Given the description of an element on the screen output the (x, y) to click on. 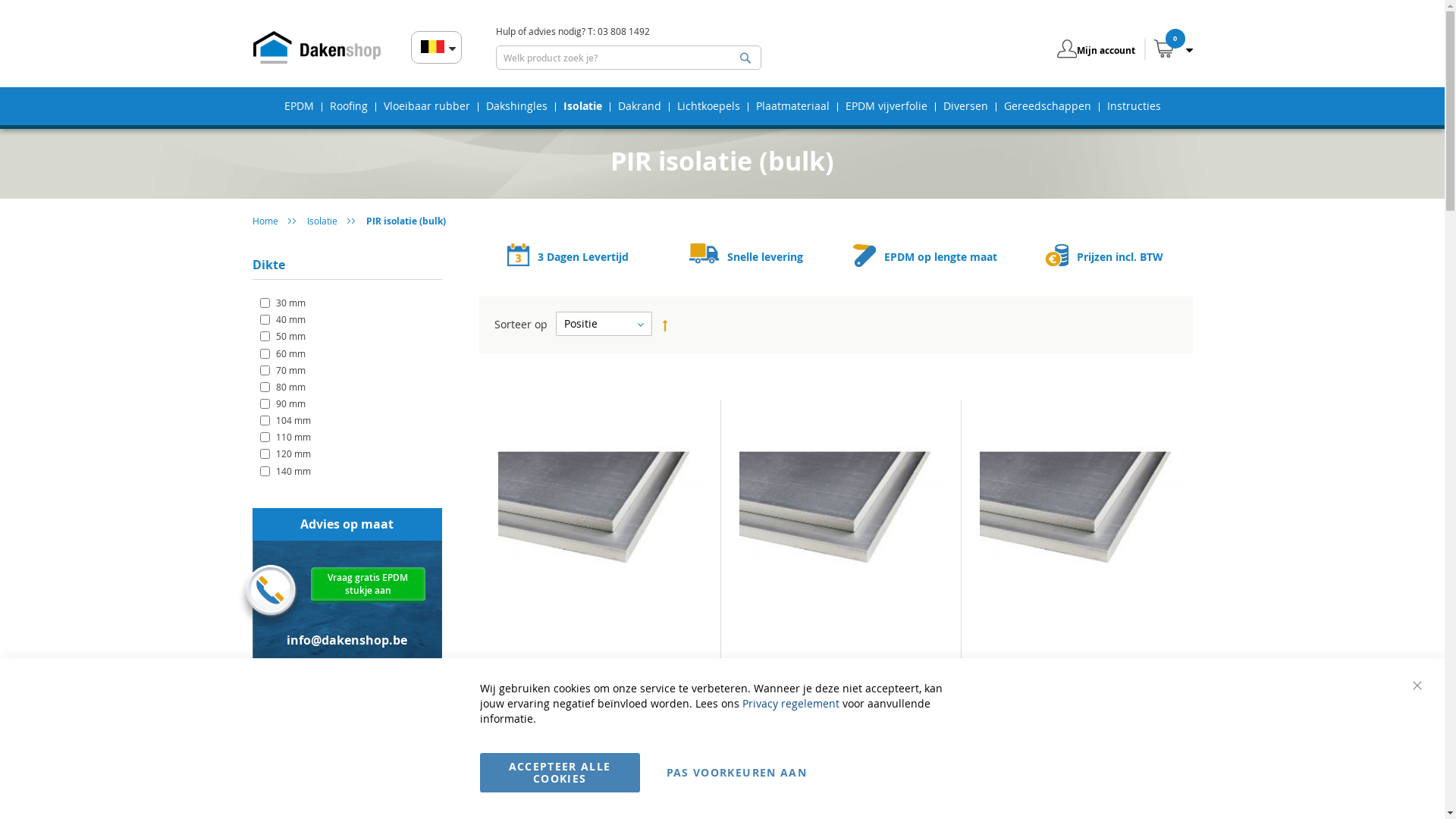
PIR isolatieplaten afm. 60x120cm 50mm (100 st) Element type: text (1082, 669)
Isolatie Element type: text (582, 106)
Vraag gratis EPDM stukje aan Element type: text (367, 584)
03 808 1492 Element type: text (1383, 782)
120 mm Element type: text (284, 453)
Sluiten Element type: text (1417, 685)
ACCEPTEER ALLE COOKIES Element type: text (559, 772)
70 mm Element type: text (281, 370)
90 mm Element type: text (281, 403)
Zoeken Element type: text (745, 57)
Mijn winkelwagen
0 Element type: text (1162, 45)
T: 03 808 1492 Element type: text (346, 692)
30 mm Element type: text (281, 302)
Aflopend sorteren Element type: text (661, 323)
Bekijk product Element type: text (841, 735)
Mail Element type: text (1327, 782)
PIR isolatie afm. 60x120cm 30mm (160 st) Element type: text (600, 669)
Instructies Element type: text (1133, 106)
50 mm Element type: text (281, 335)
PAS VOORKEUREN AAN Element type: text (736, 772)
110 mm Element type: text (284, 436)
Privacy regelement Element type: text (789, 703)
Diversen Element type: text (965, 106)
Bekijk product Element type: text (600, 735)
40 mm Element type: text (281, 319)
80 mm Element type: text (281, 386)
EPDM Element type: text (298, 106)
Vloeibaar rubber Element type: text (426, 106)
EPDM vijverfolie Element type: text (886, 106)
Chat Element type: text (1283, 782)
PIR isolatieplaten afm. 60x120cm 40mm (120 st) Element type: text (841, 669)
Dakshingles Element type: text (516, 106)
60 mm Element type: text (281, 353)
info@dakenshop.be Element type: text (346, 639)
Plaatmateriaal Element type: text (792, 106)
Bekijk product Element type: text (1082, 735)
Isolatie Element type: text (321, 220)
Mijn account Element type: text (1105, 49)
Home Element type: text (264, 220)
140 mm Element type: text (284, 470)
104 mm Element type: text (284, 420)
Gereedschappen Element type: text (1047, 106)
Lichtkoepels Element type: text (708, 106)
Dakrand Element type: text (639, 106)
Roofing Element type: text (348, 106)
